Given the description of an element on the screen output the (x, y) to click on. 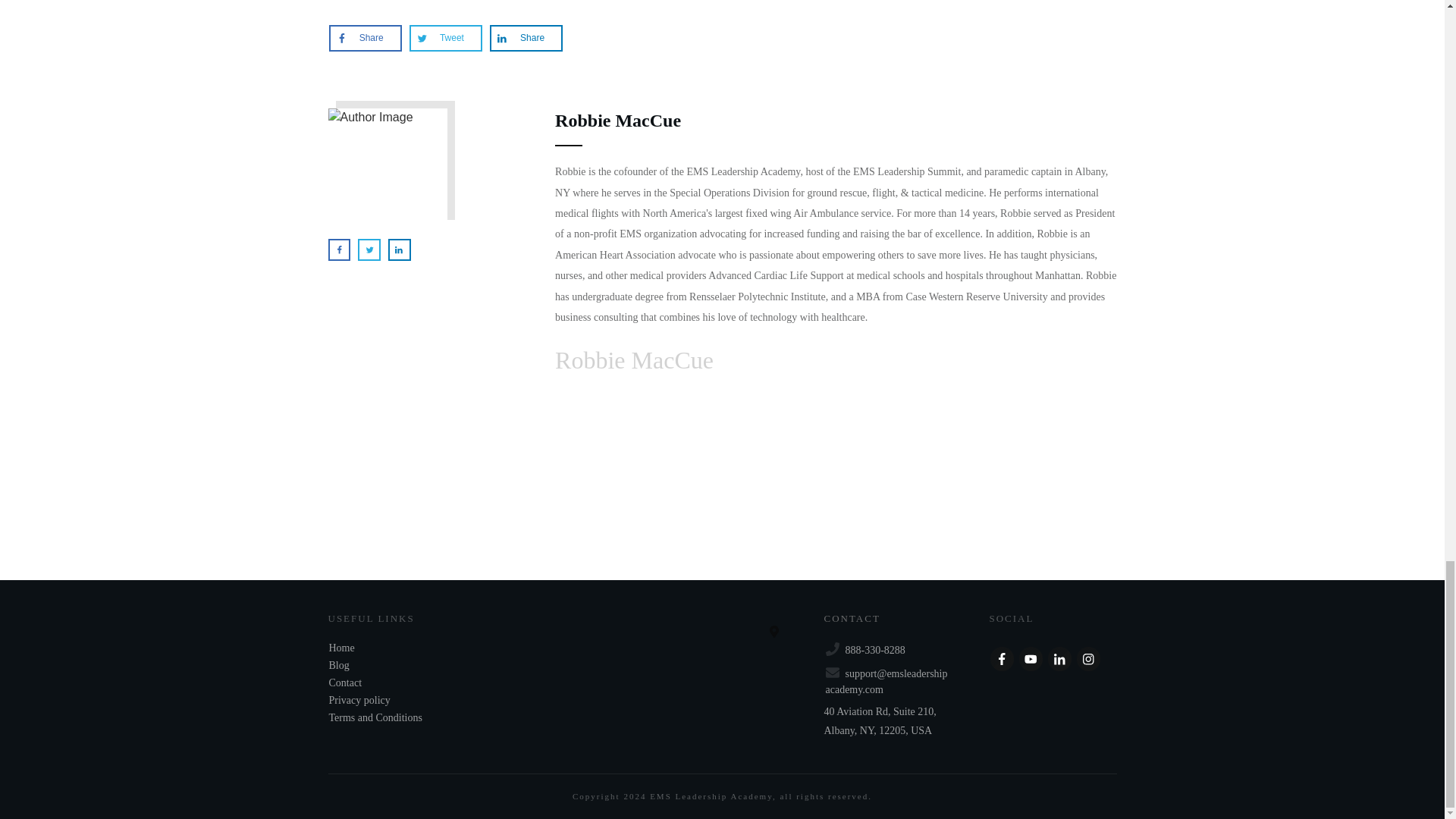
Tweet (445, 37)
Share (365, 37)
